Given the description of an element on the screen output the (x, y) to click on. 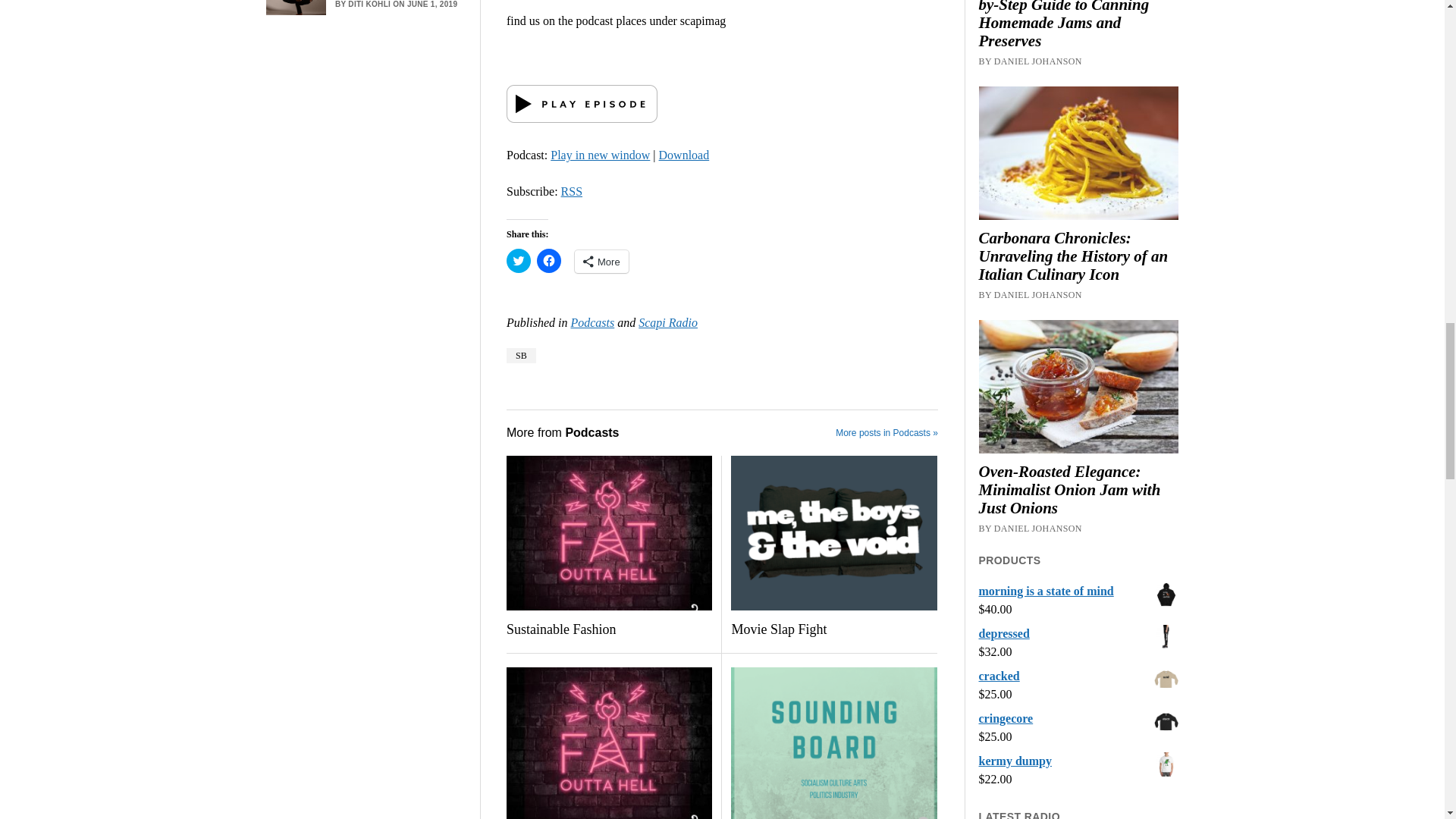
Download (684, 154)
Play in new window (599, 154)
Click to share on Facebook (548, 260)
Play (582, 118)
Play (582, 103)
Subscribe via RSS (571, 191)
Click to share on Twitter (518, 260)
